Given the description of an element on the screen output the (x, y) to click on. 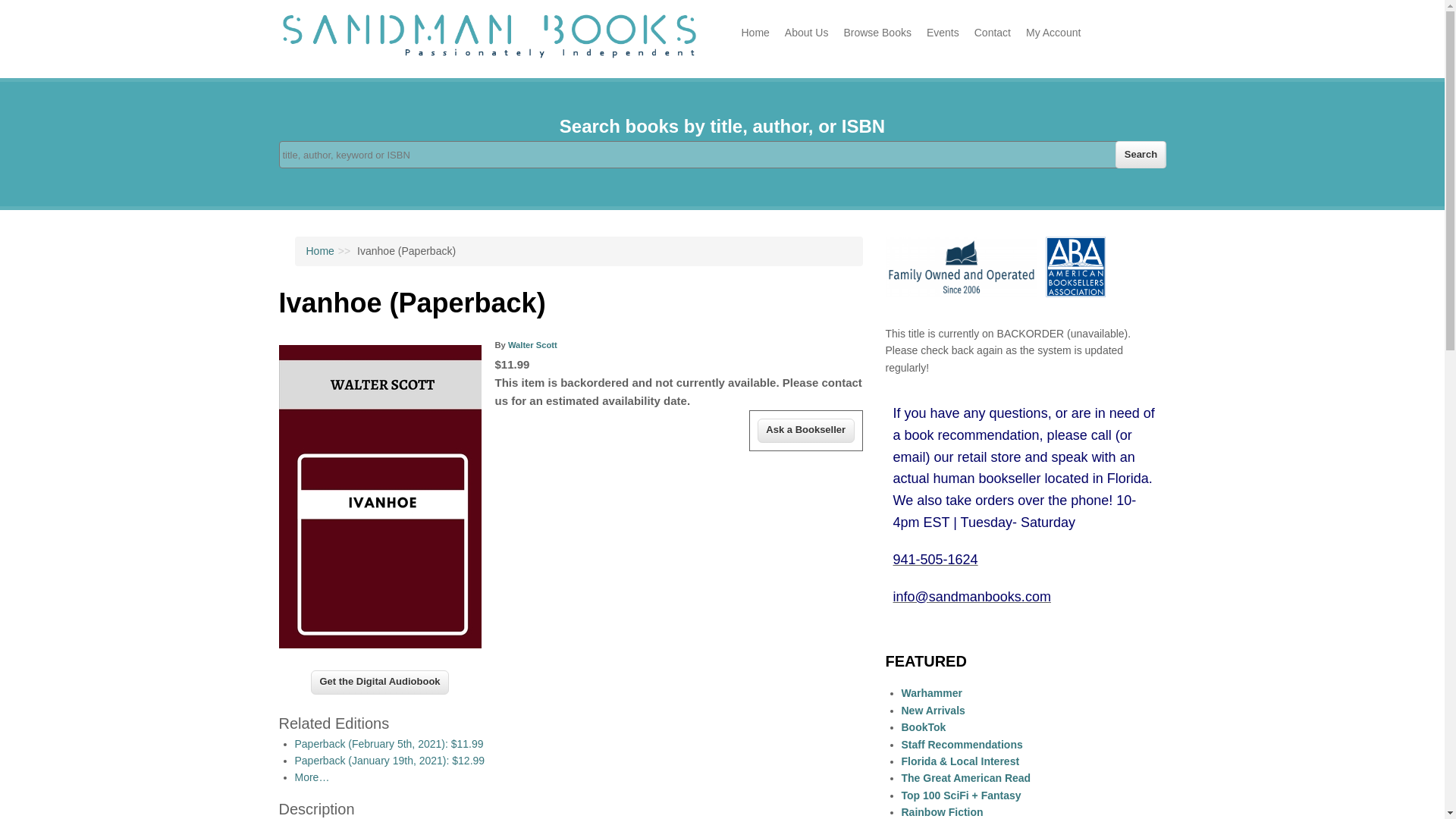
Home (755, 32)
Contact (991, 32)
My Account (1052, 32)
Home (489, 54)
Search (1140, 154)
Enter the terms you wish to search for. (722, 154)
About Us (806, 32)
Ask a Bookseller (805, 430)
Get the Digital Audiobook (379, 682)
